Given the description of an element on the screen output the (x, y) to click on. 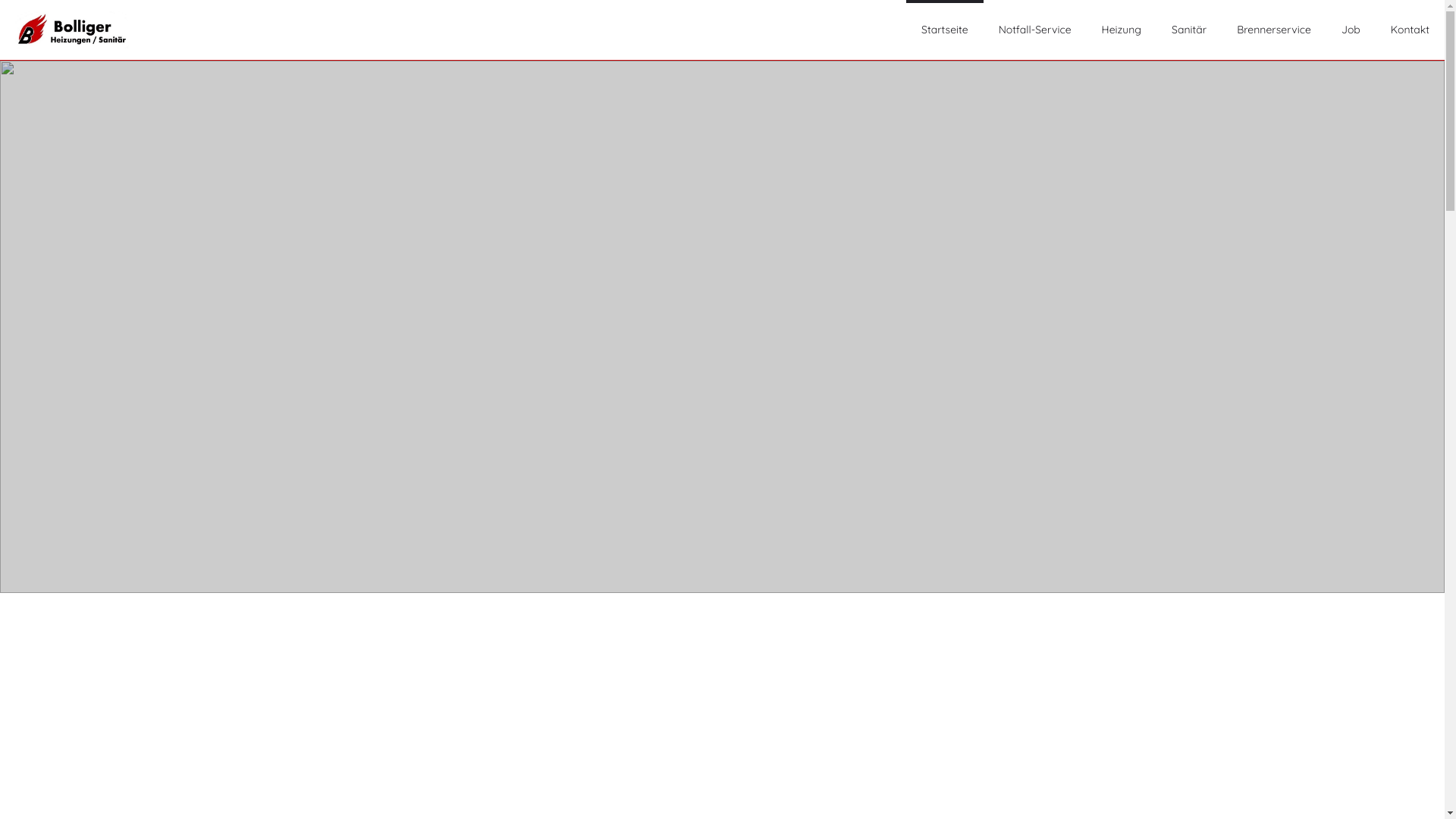
Startseite Element type: text (944, 30)
Brennerservice Element type: text (1273, 30)
Notfall-Service Element type: text (1034, 30)
Kontakt Element type: text (1409, 30)
Heizung Element type: text (1121, 30)
Job Element type: text (1350, 30)
